Given the description of an element on the screen output the (x, y) to click on. 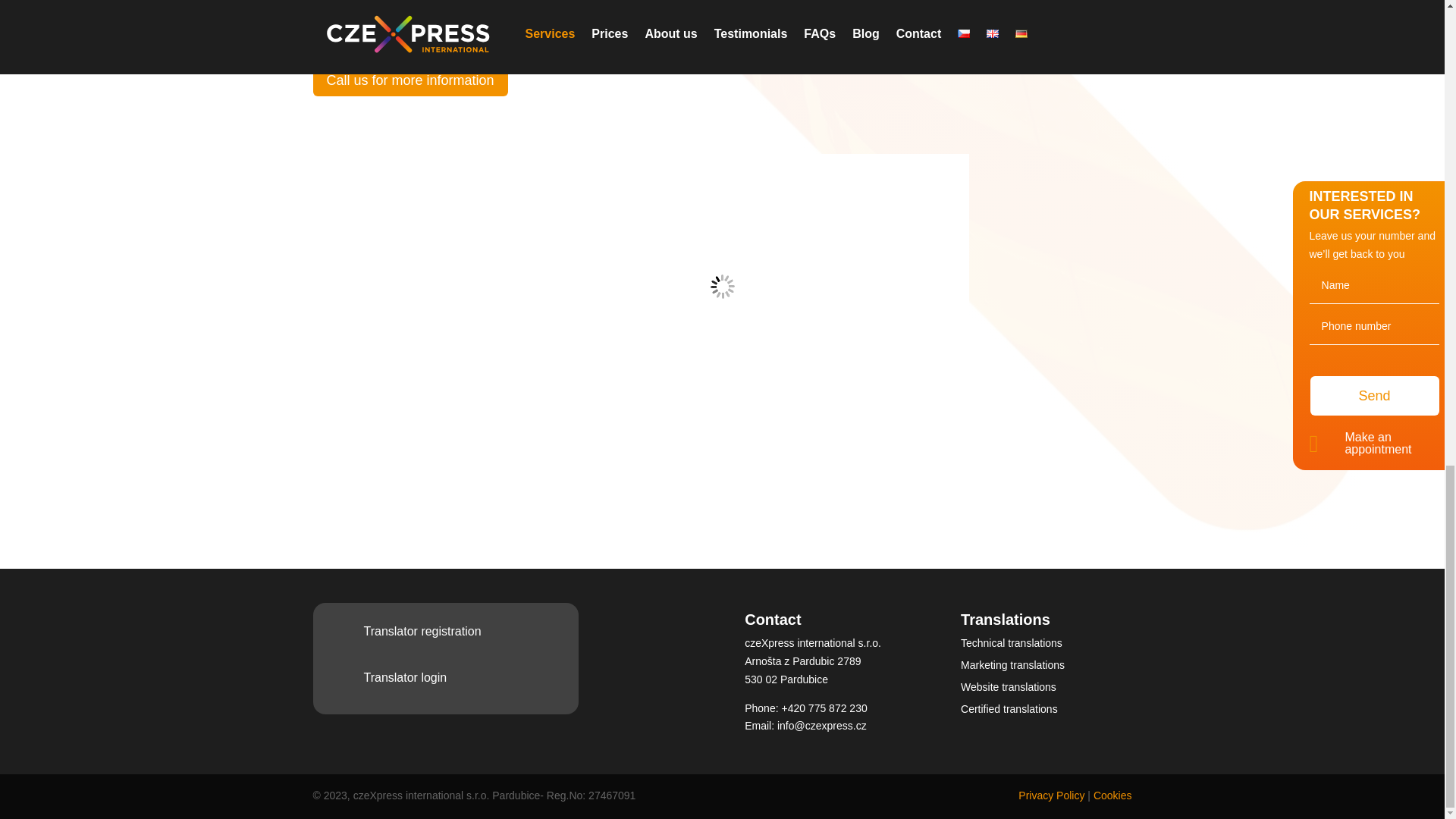
Call us for more information (409, 80)
Cookies (1112, 795)
Translator registration (422, 631)
Translator login (405, 676)
Privacy Policy (1050, 795)
